Given the description of an element on the screen output the (x, y) to click on. 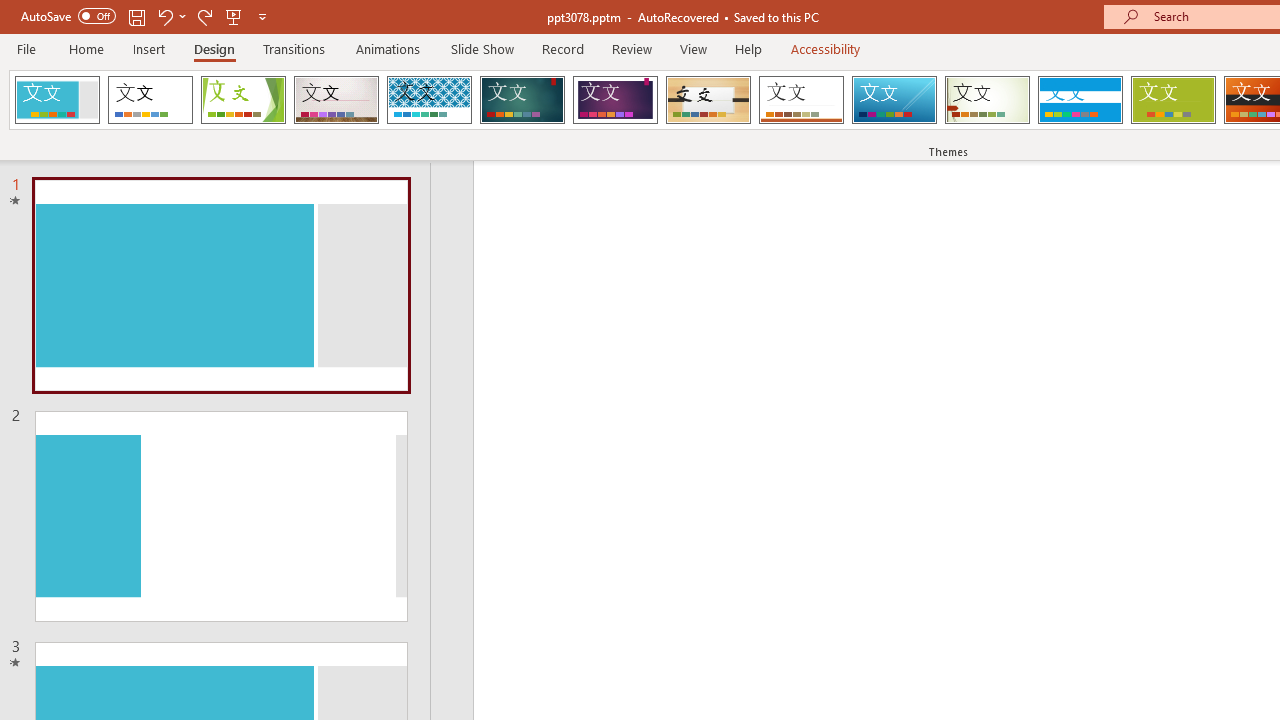
Ion (522, 100)
Retrospect (801, 100)
Gallery (336, 100)
Facet (243, 100)
Frame (57, 100)
Slice (893, 100)
